Given the description of an element on the screen output the (x, y) to click on. 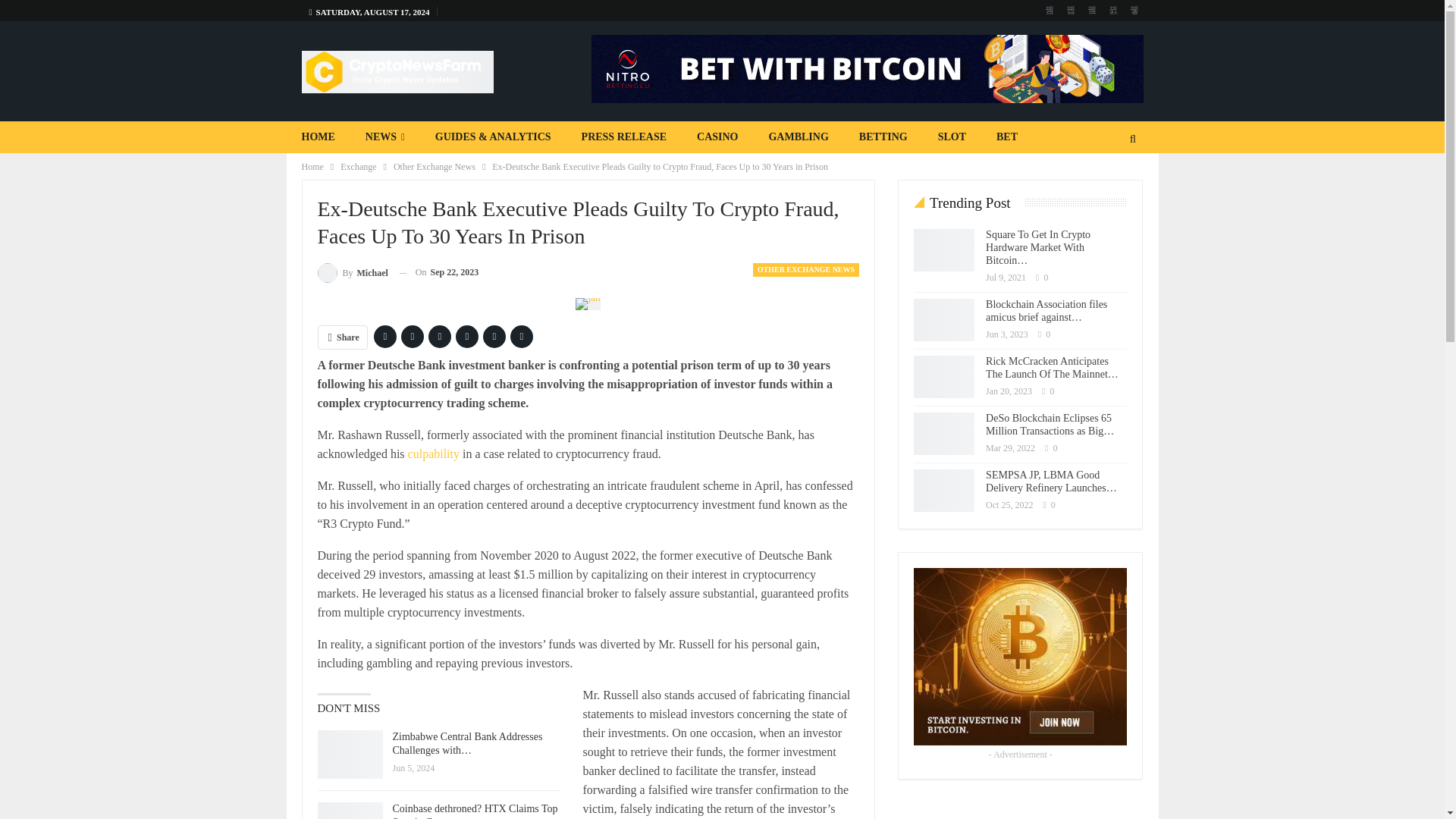
BET (1006, 137)
Exchange (357, 166)
OTHER EXCHANGE NEWS (805, 269)
EXCHANGE (521, 169)
Home (312, 166)
Coinbase dethroned? HTX Claims Top Spot in Crypto Trading (349, 810)
PRESS RELEASE (623, 137)
NEWS (385, 137)
Other Exchange News (434, 166)
